Given the description of an element on the screen output the (x, y) to click on. 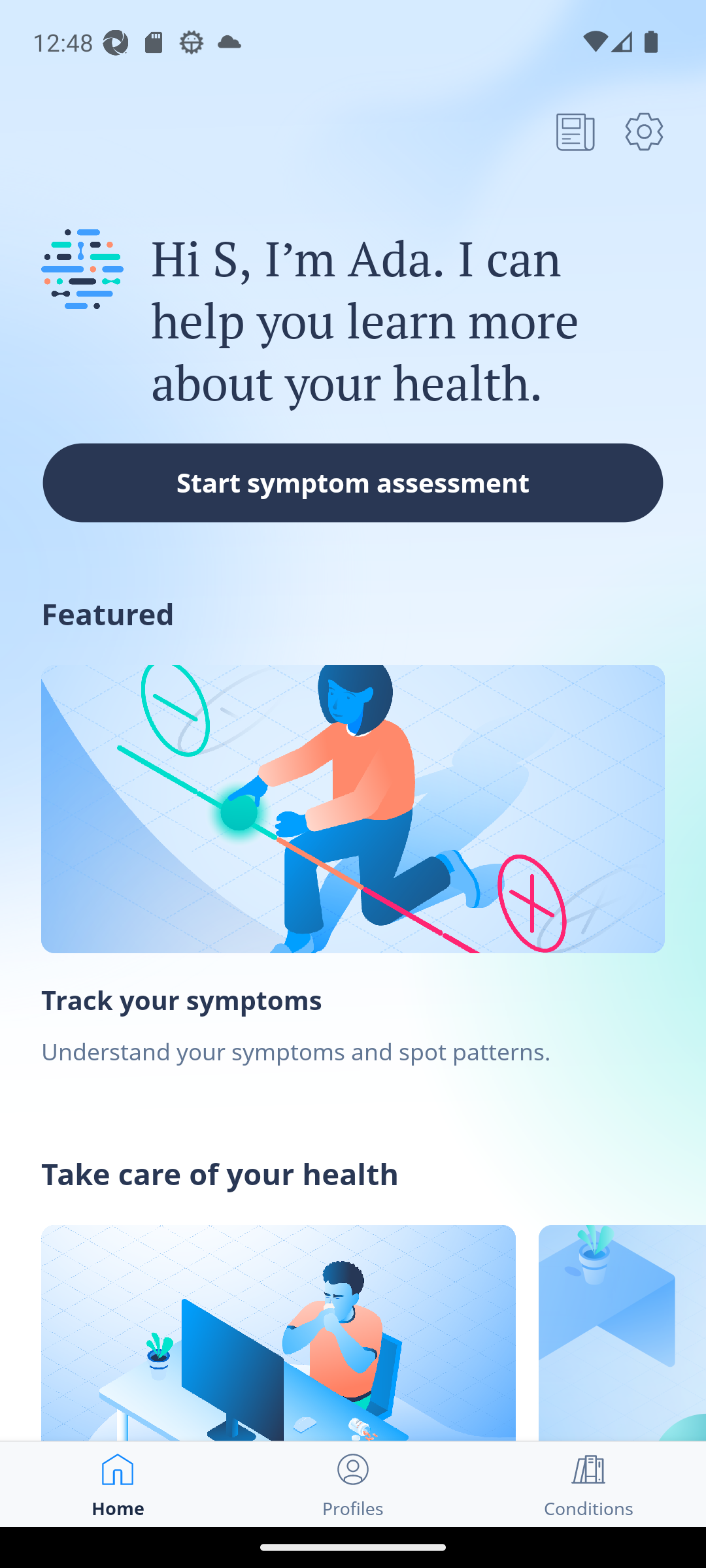
article icon , open articles (574, 131)
settings icon, open settings (644, 131)
Start symptom assessment (352, 482)
Home (117, 1484)
Profiles (352, 1484)
Conditions (588, 1484)
